Given the description of an element on the screen output the (x, y) to click on. 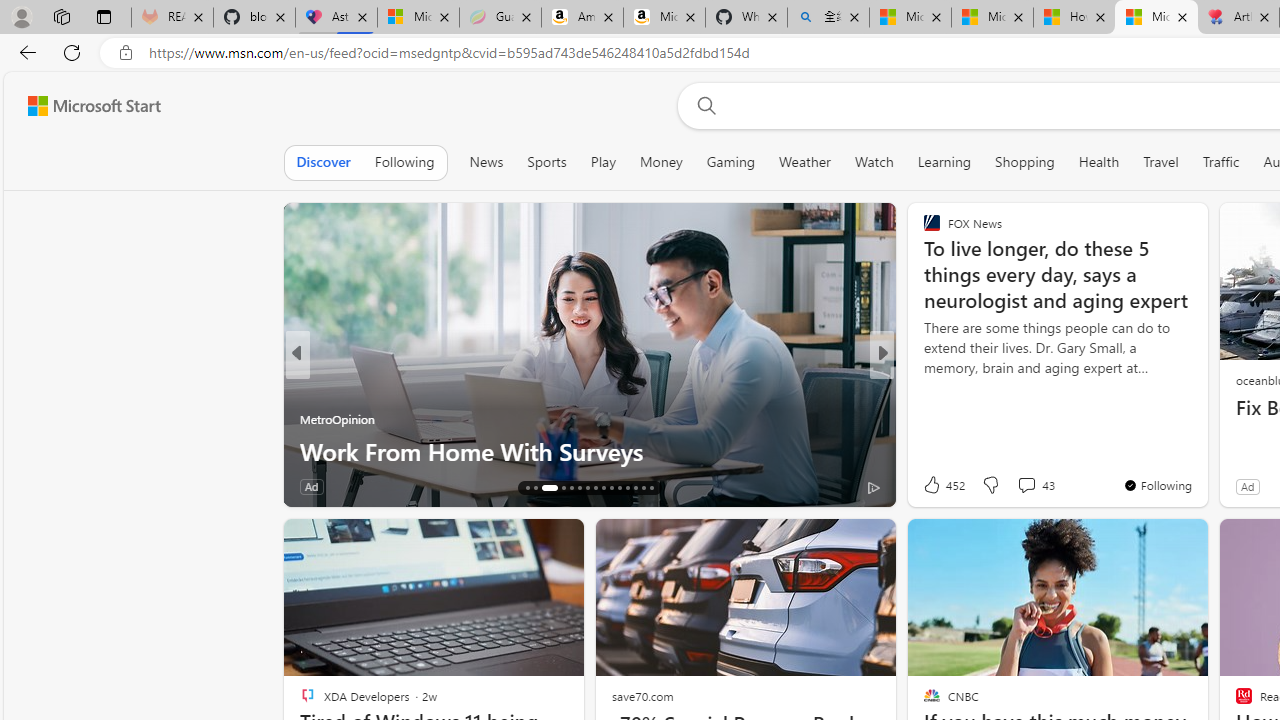
View comments 43 Comment (1026, 485)
Health (1099, 161)
FOX News (923, 386)
285 Like (936, 486)
News (486, 161)
Weather (804, 161)
Hide this story (1147, 542)
Asthma Inhalers: Names and Types (336, 17)
Microsoft-Report a Concern to Bing (418, 17)
View comments 67 Comment (1029, 486)
The Register (923, 386)
